Given the description of an element on the screen output the (x, y) to click on. 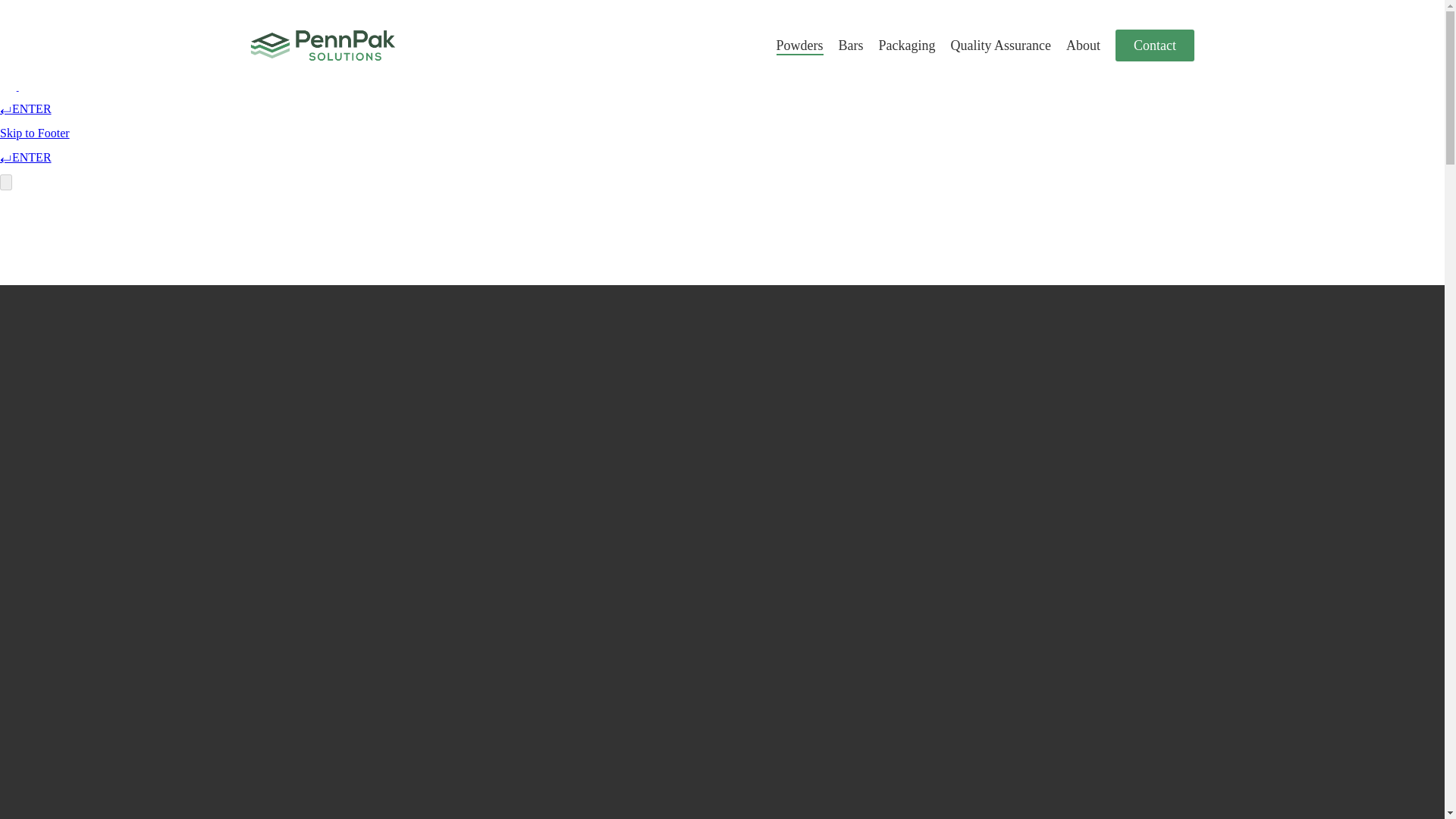
Powders (800, 45)
Packaging (907, 45)
About (1082, 45)
Contact (1154, 45)
Quality Assurance (1000, 45)
Bars (850, 45)
